Given the description of an element on the screen output the (x, y) to click on. 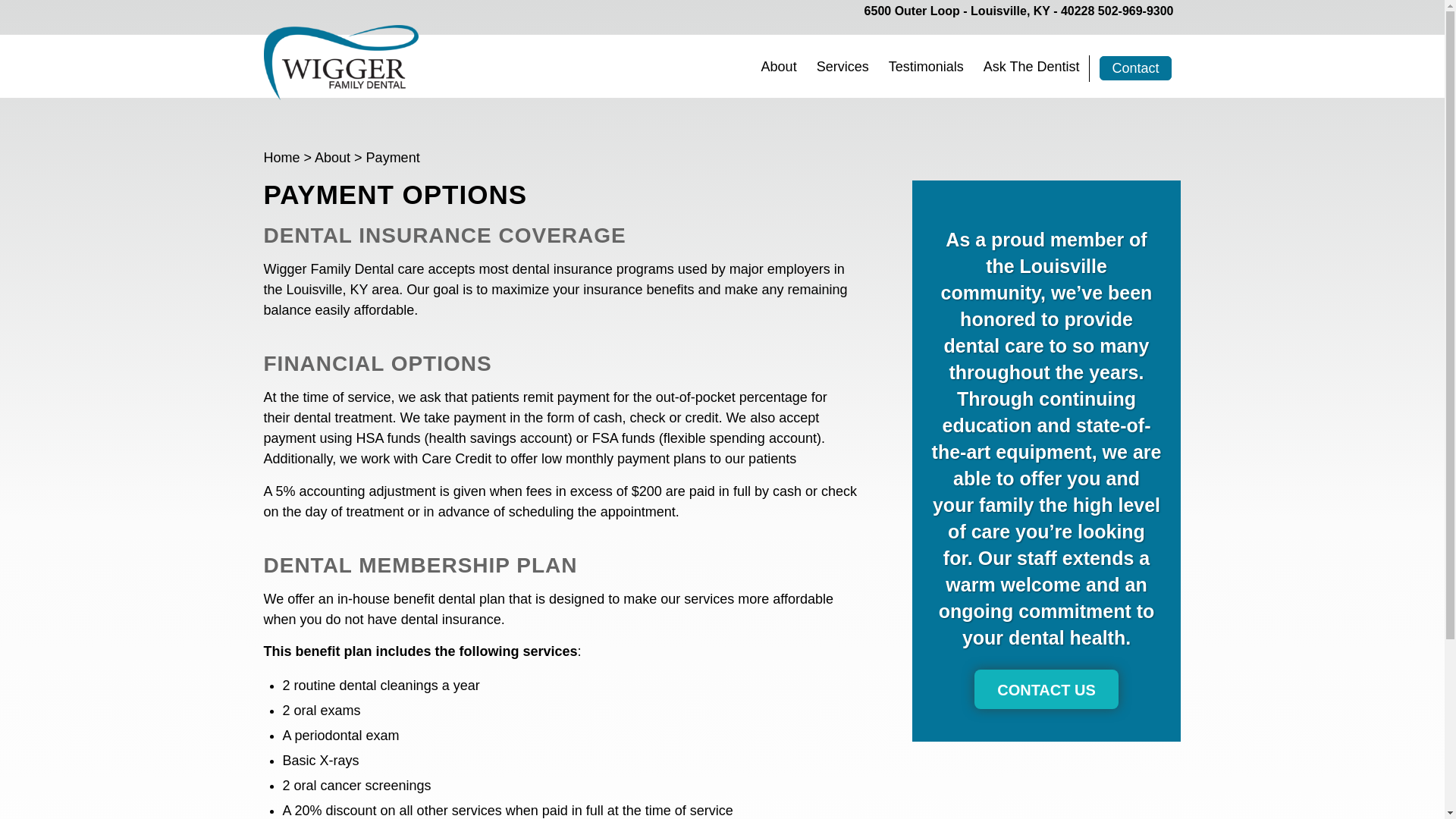
Home (281, 157)
About (778, 65)
Ask The Dentist (1031, 65)
About (332, 157)
Contact (1134, 67)
CONTACT US (1046, 689)
Testimonials (926, 65)
502-969-9300 (1135, 10)
Services (842, 65)
